Given the description of an element on the screen output the (x, y) to click on. 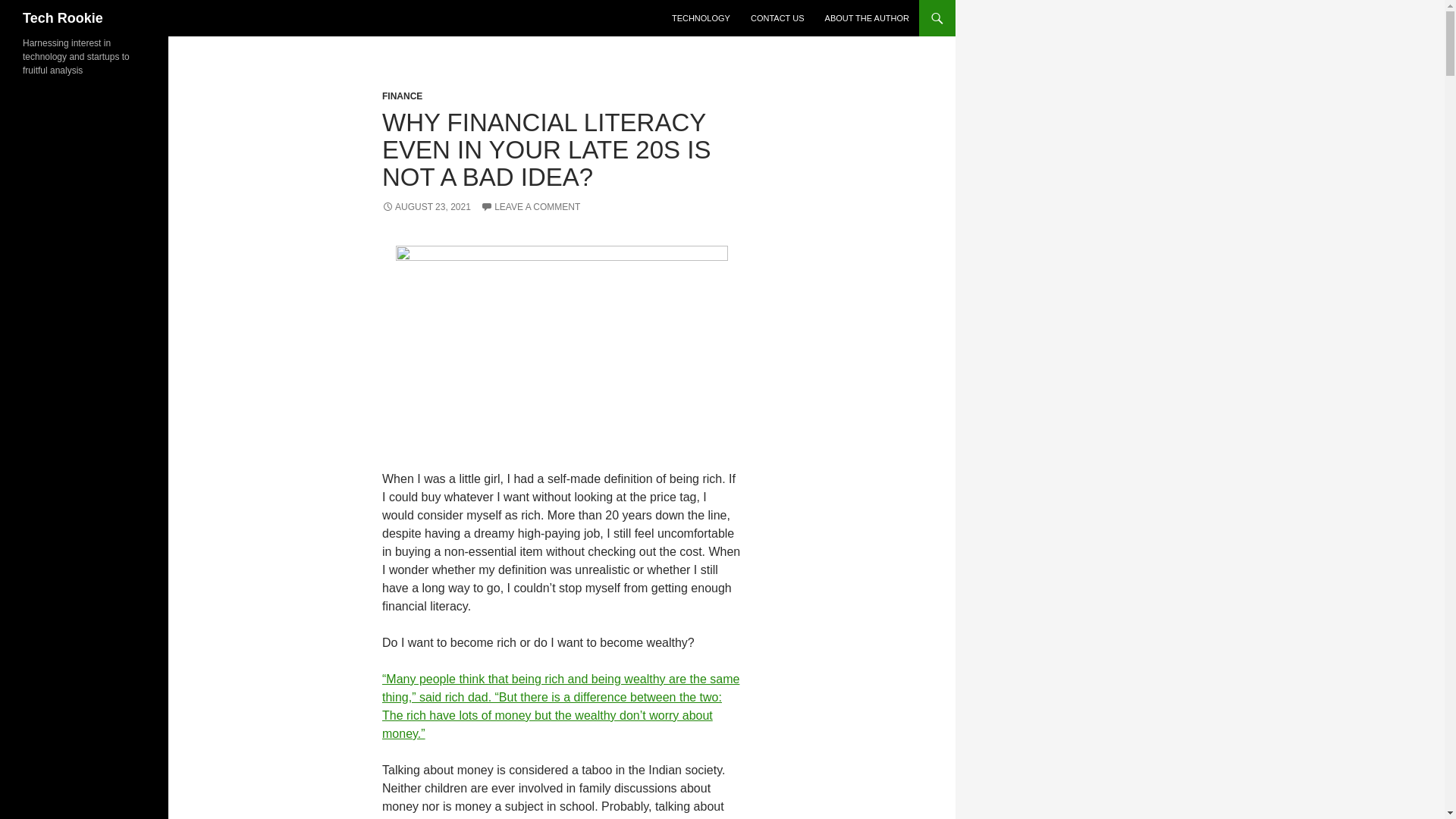
ABOUT THE AUTHOR (866, 18)
FINANCE (401, 95)
AUGUST 23, 2021 (425, 206)
LEAVE A COMMENT (529, 206)
CONTACT US (777, 18)
Tech Rookie (63, 18)
TECHNOLOGY (700, 18)
